Given the description of an element on the screen output the (x, y) to click on. 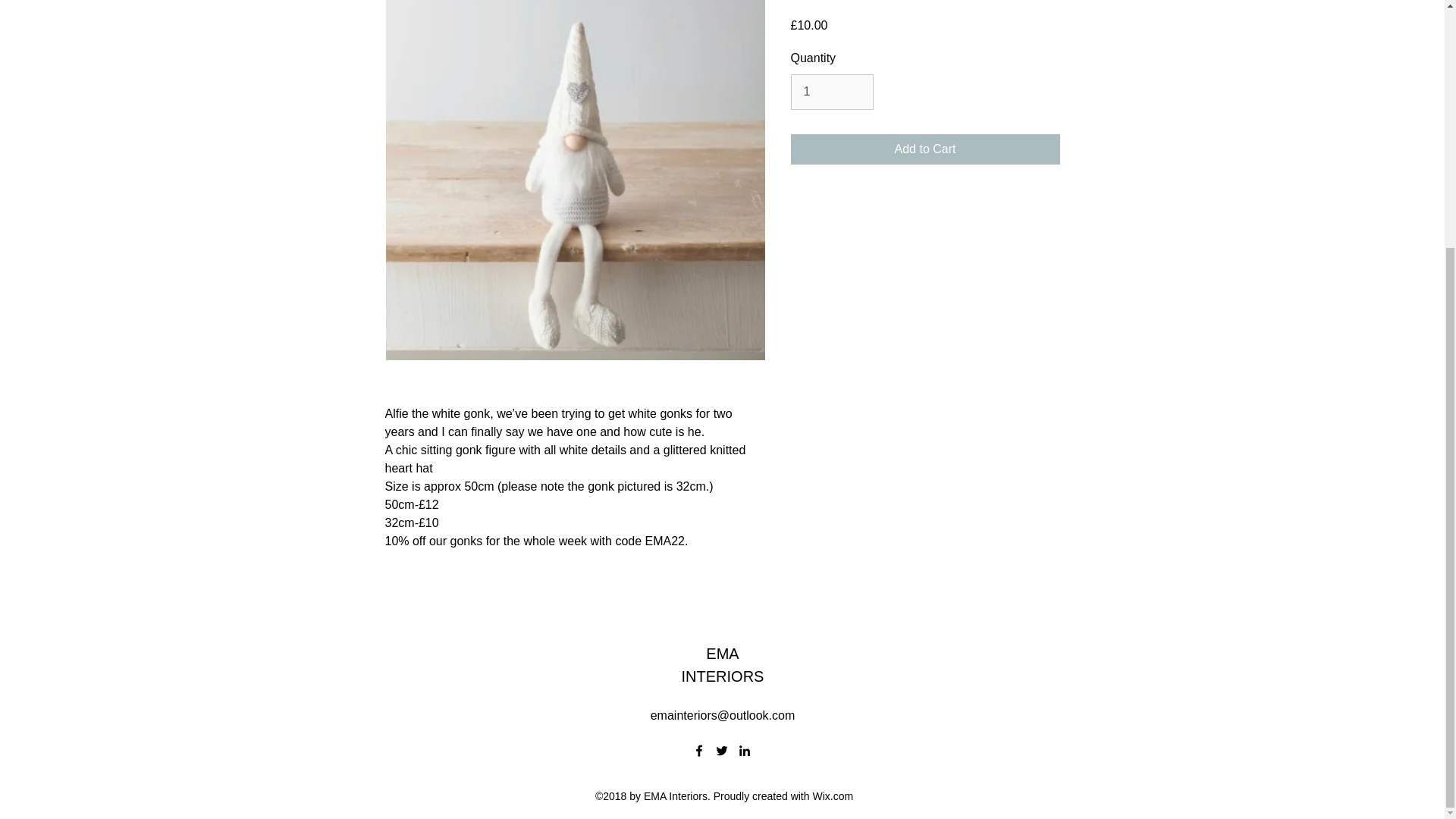
Add to Cart (924, 149)
EMA INTERIORS (722, 664)
1 (831, 91)
